Given the description of an element on the screen output the (x, y) to click on. 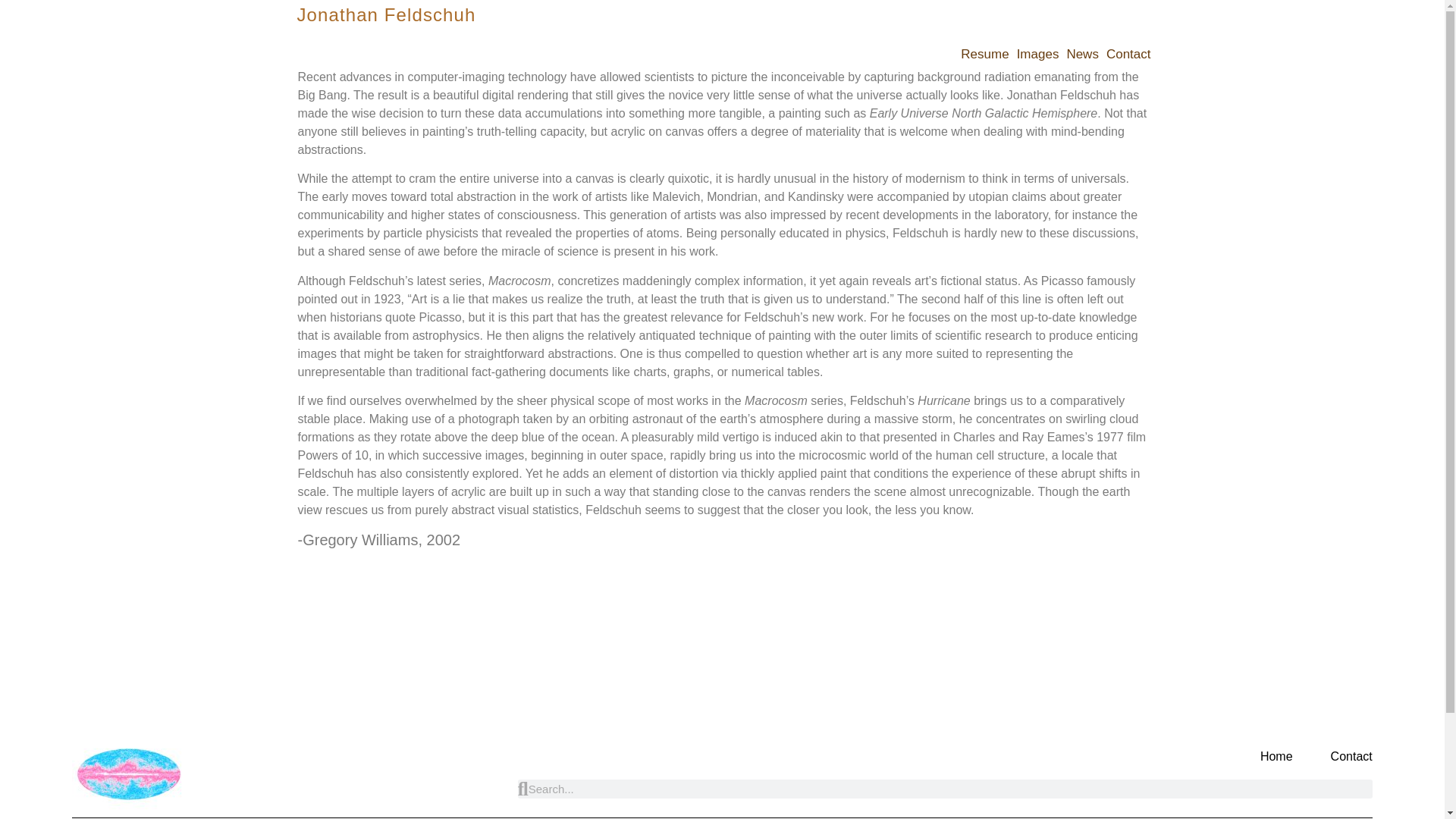
Contact (1128, 54)
News (1082, 54)
Images (1037, 54)
Jonathan Feldschuh (386, 14)
Resume (983, 54)
